Given the description of an element on the screen output the (x, y) to click on. 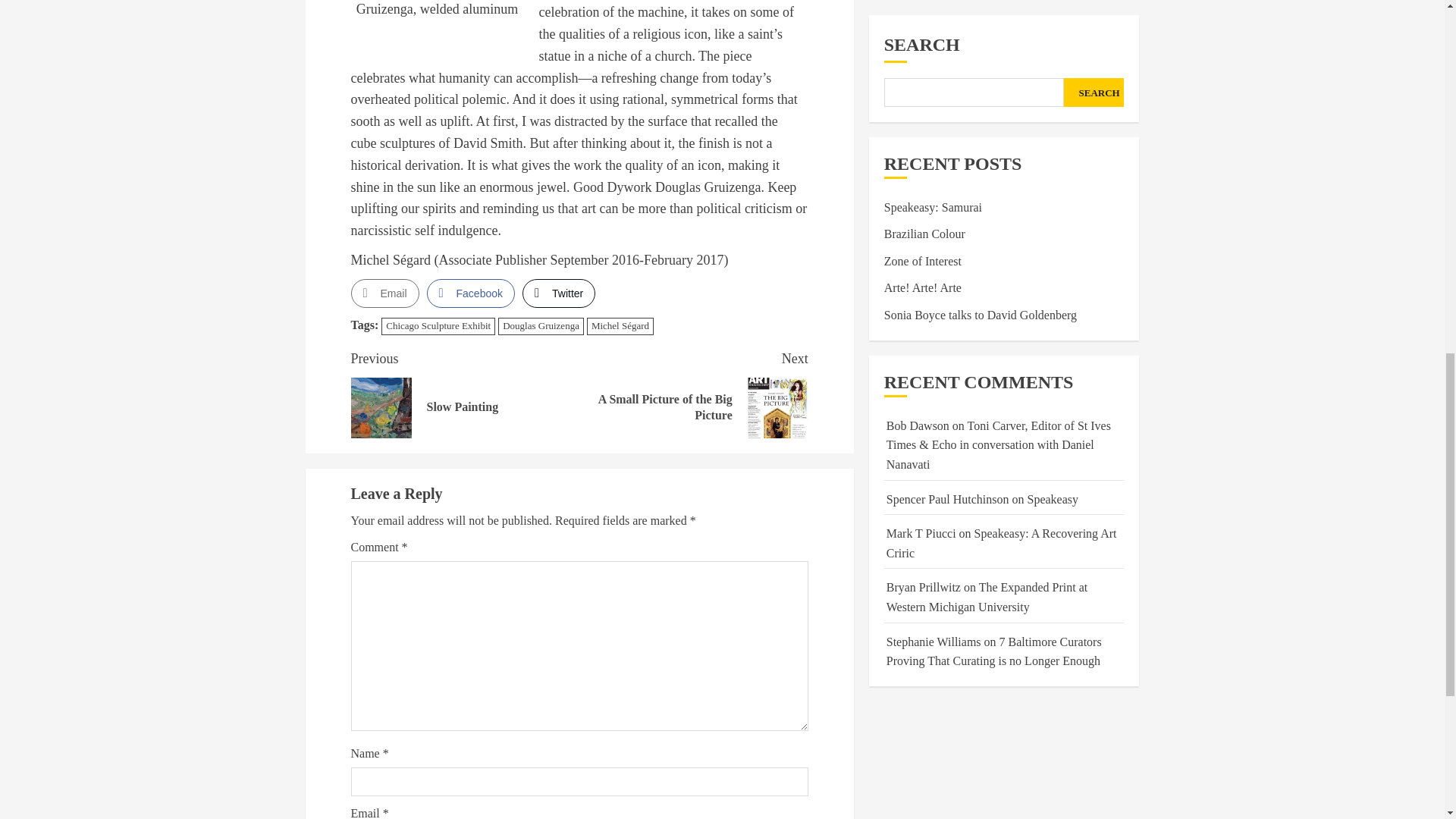
Speakeasy (1052, 77)
Bob Dawson (464, 393)
Spencer Paul Hutchinson (917, 5)
Email (947, 77)
Douglas Gruizenga (384, 293)
Facebook (693, 393)
Twitter (540, 325)
Chicago Sculpture Exhibit (470, 293)
